Given the description of an element on the screen output the (x, y) to click on. 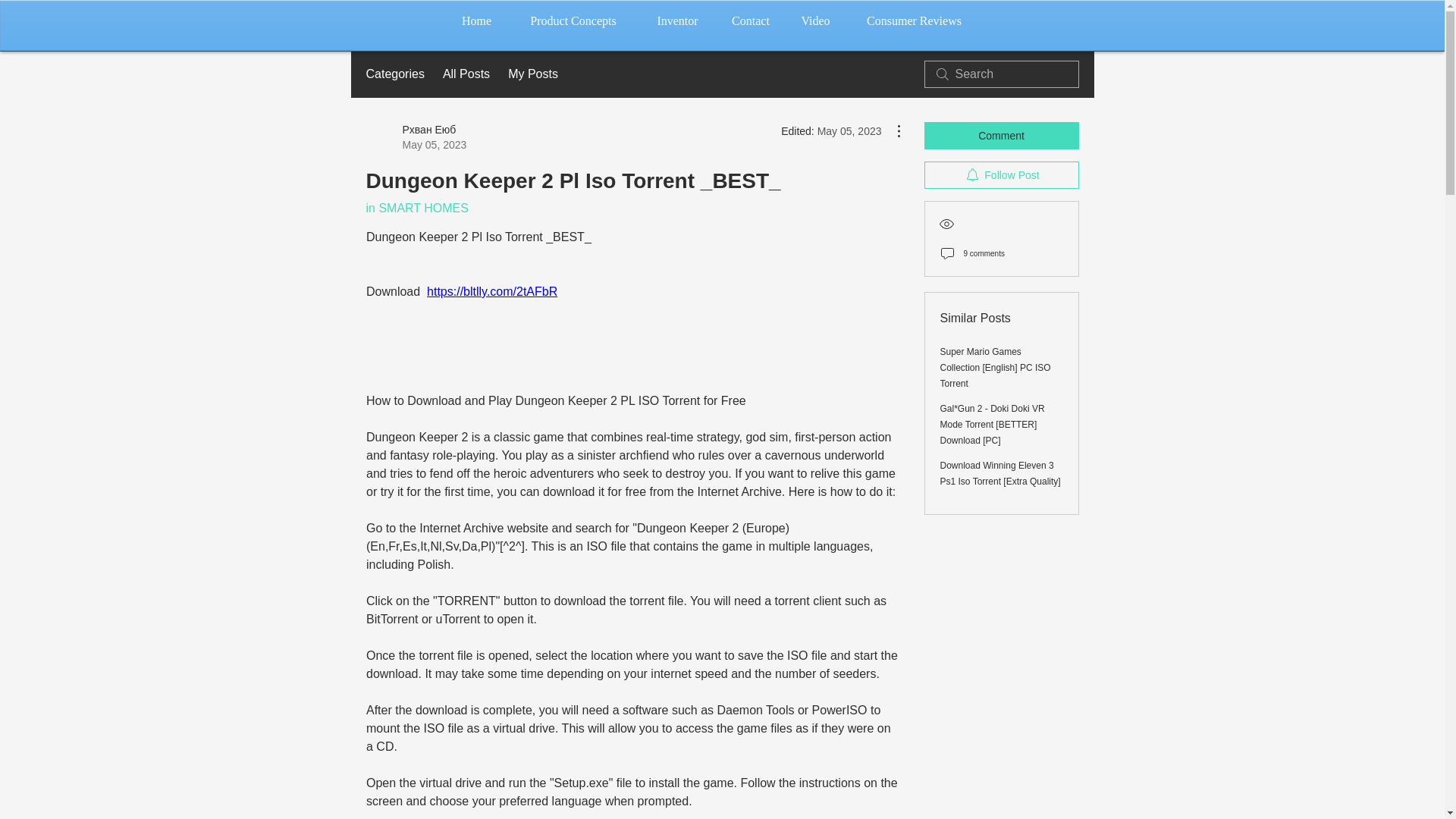
in SMART HOMES (416, 207)
Product Concepts (573, 21)
Contact (750, 21)
Consumer Reviews (914, 21)
Video (815, 21)
Categories (394, 74)
My Posts (532, 74)
Inventor (677, 21)
Home (476, 21)
All Posts (465, 74)
